Given the description of an element on the screen output the (x, y) to click on. 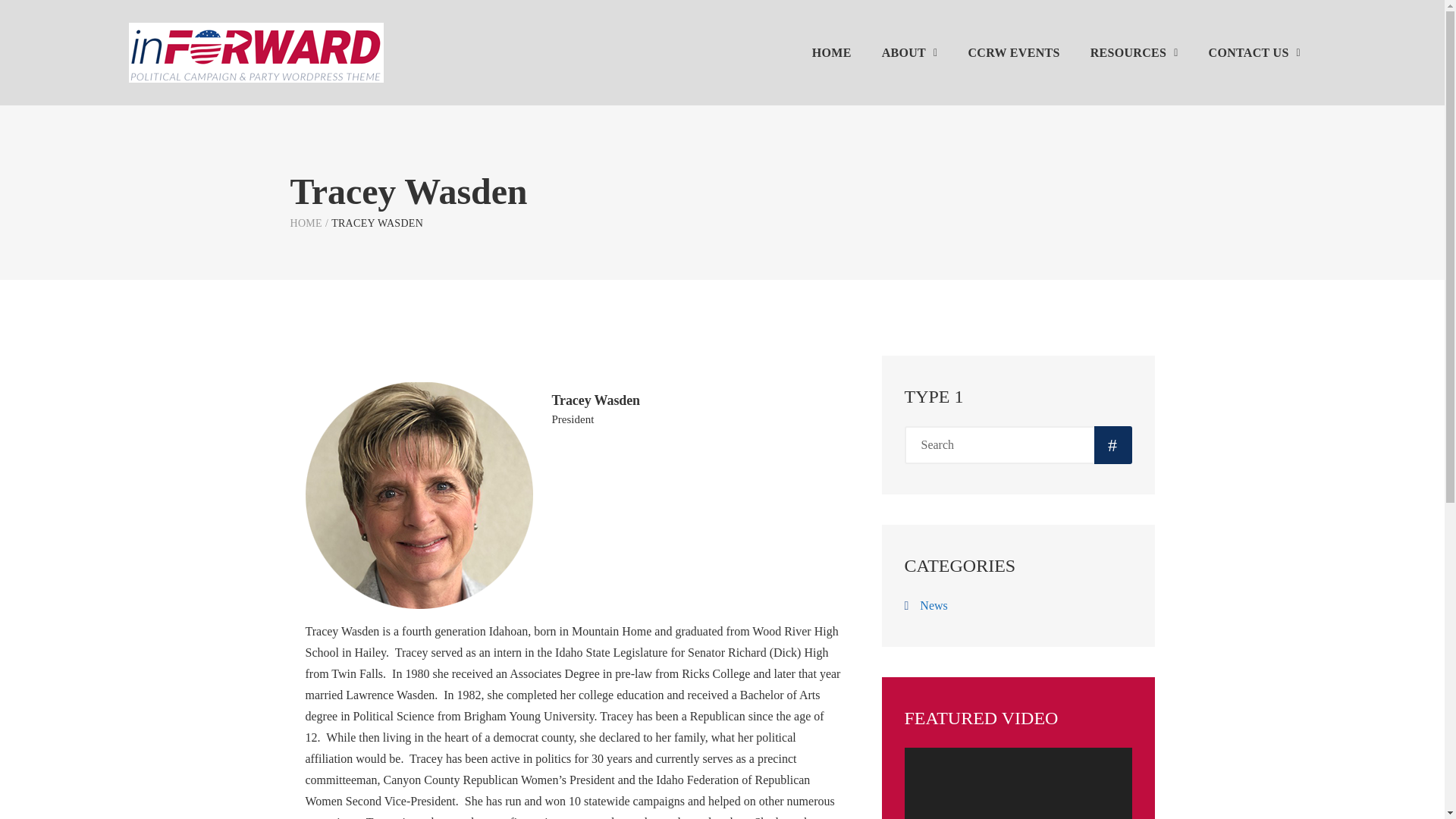
Canyon County Republican Women  (305, 223)
HOME (305, 223)
News (933, 605)
CONTACT US (1254, 52)
HOME (831, 52)
ABOUT (909, 52)
CCRW EVENTS (1013, 52)
RESOURCES (1133, 52)
